Given the description of an element on the screen output the (x, y) to click on. 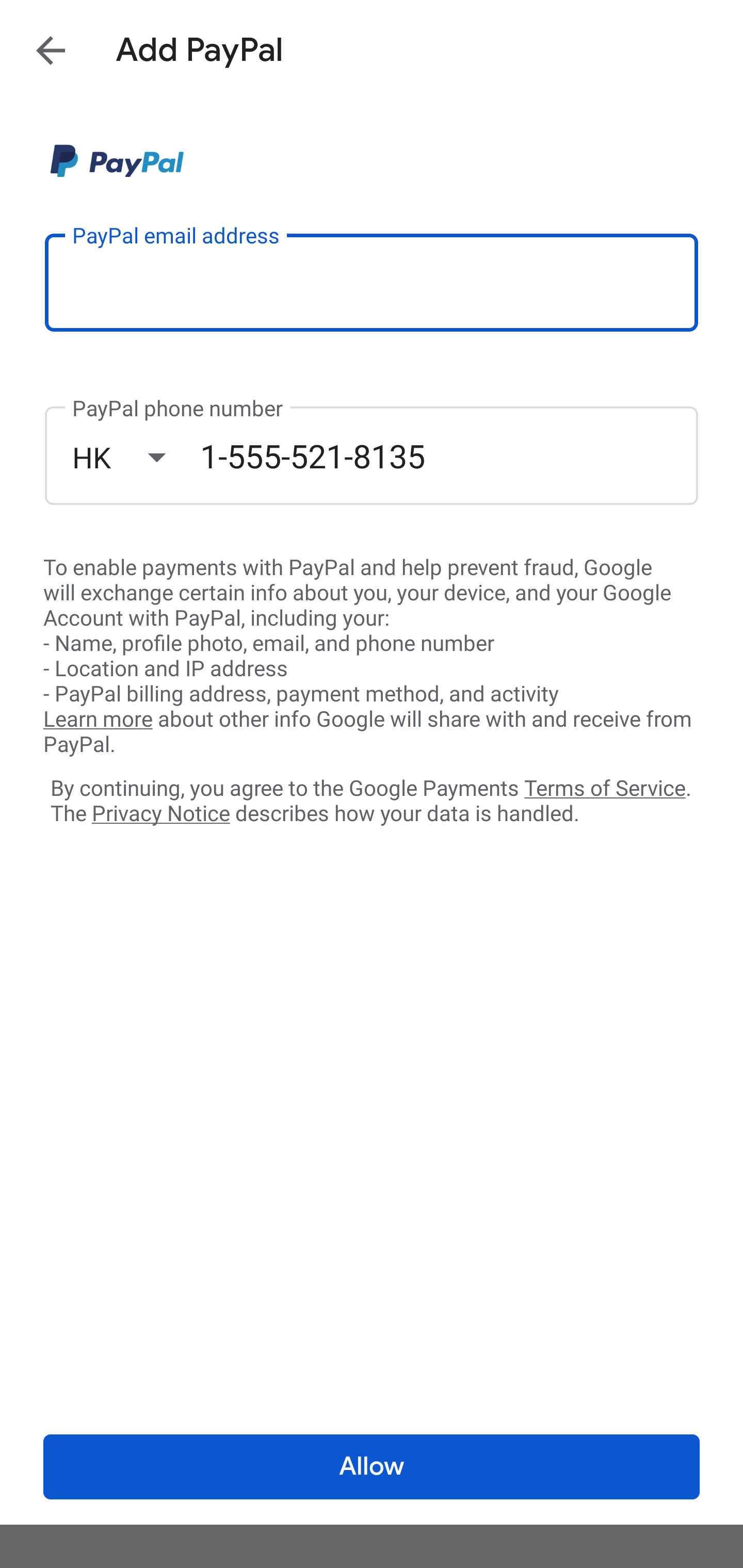
Navigate up (50, 50)
PayPal email address (371, 282)
HK (135, 456)
Learn more (97, 719)
Terms of Service (604, 787)
Privacy Notice (160, 814)
Allow (371, 1466)
